Given the description of an element on the screen output the (x, y) to click on. 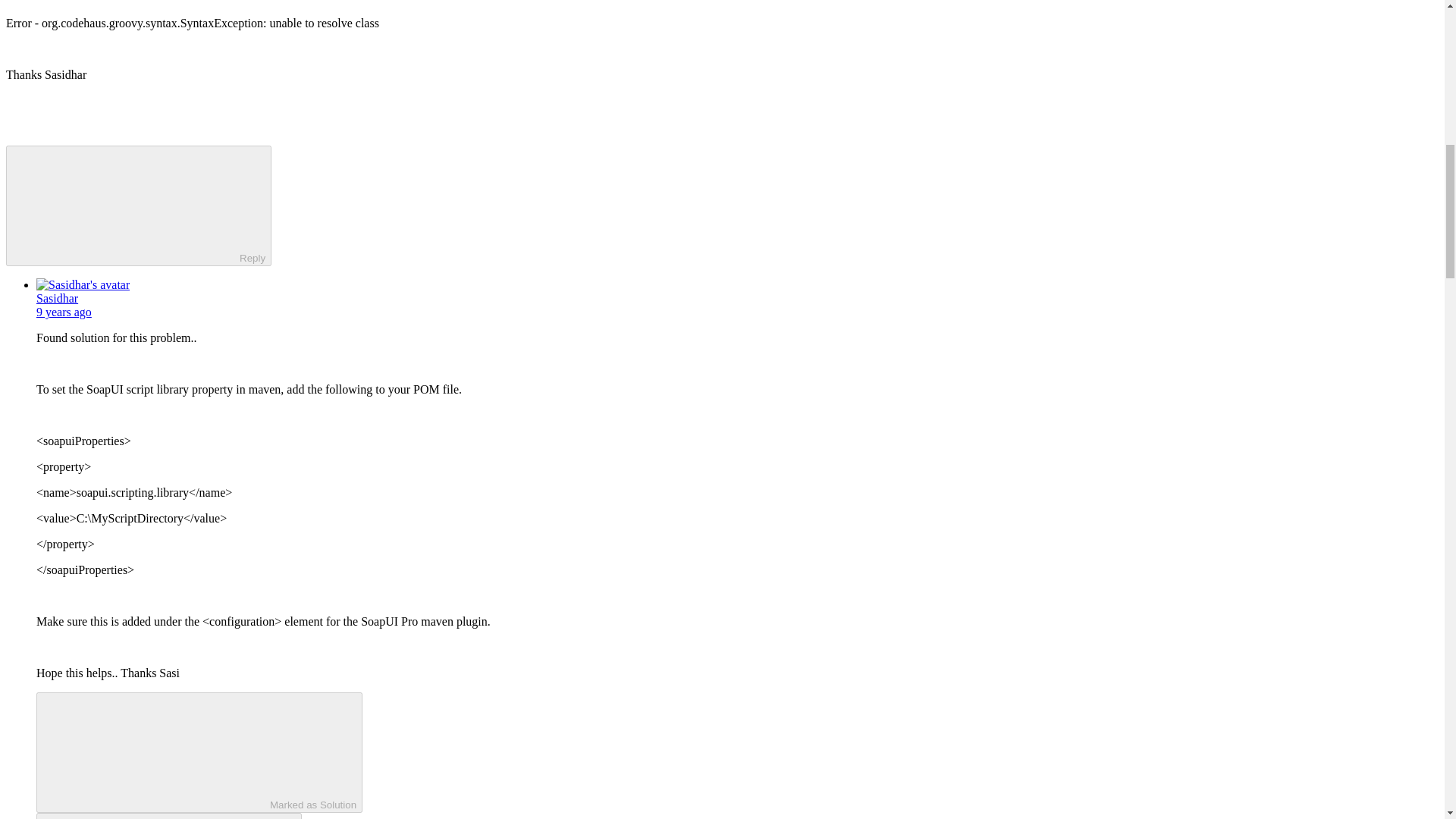
Reply (155, 816)
9 years ago (63, 311)
Marked as Solution (199, 752)
Reply (125, 204)
ReplyReply (137, 205)
Sasidhar (57, 297)
ReplyReply (168, 816)
August 7, 2015 at 9:00 AM (63, 311)
